Given the description of an element on the screen output the (x, y) to click on. 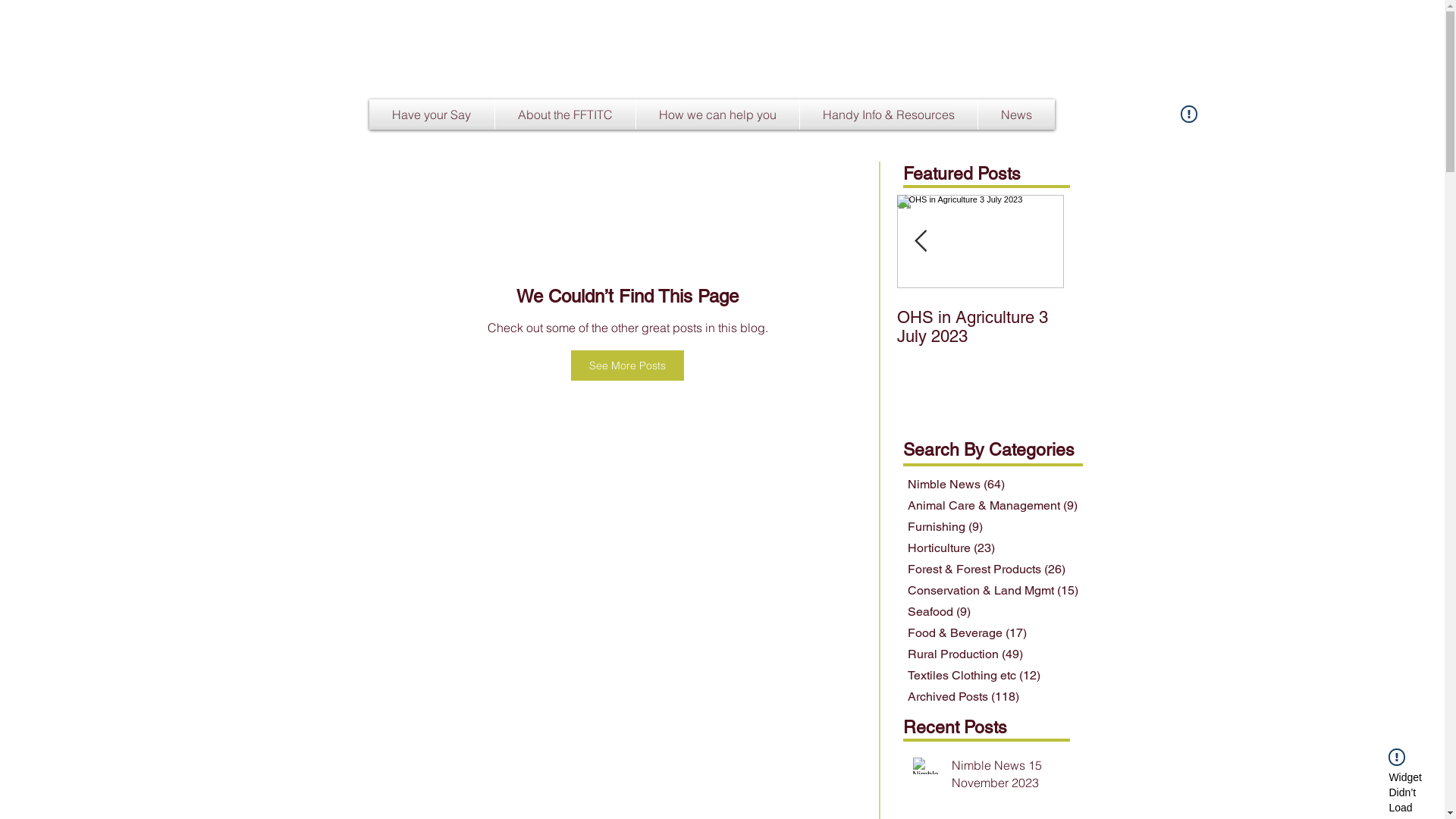
See More Posts Element type: text (627, 365)
Horticulture (23) Element type: text (993, 547)
Conservation & Land Mgmt (15) Element type: text (993, 590)
Nimble News 23 August 2023 Element type: text (812, 326)
Food & Beverage (17) Element type: text (993, 632)
Forest & Forest Products (26) Element type: text (993, 569)
Rural Production (49) Element type: text (993, 654)
Archived Posts (118) Element type: text (993, 696)
Have your Say Element type: text (430, 114)
Nimble News 15 November 2023 Element type: text (1005, 776)
Handy Info & Resources Element type: text (887, 114)
AGM and Forum 2023 Element type: text (478, 316)
Furnishing (9) Element type: text (993, 526)
Textiles Clothing etc (12) Element type: text (993, 675)
Animal Care & Management (9) Element type: text (993, 505)
Nimble News 6 September 2023 Element type: text (645, 326)
Nimble News (64) Element type: text (993, 484)
Seafood (9) Element type: text (993, 611)
Nimble News 20 September 2023 Element type: text (312, 326)
News Element type: text (1016, 114)
Nimble News 4 October 2023 Element type: text (145, 326)
OHS in Agriculture 3 July 2023 Element type: text (979, 326)
